Given the description of an element on the screen output the (x, y) to click on. 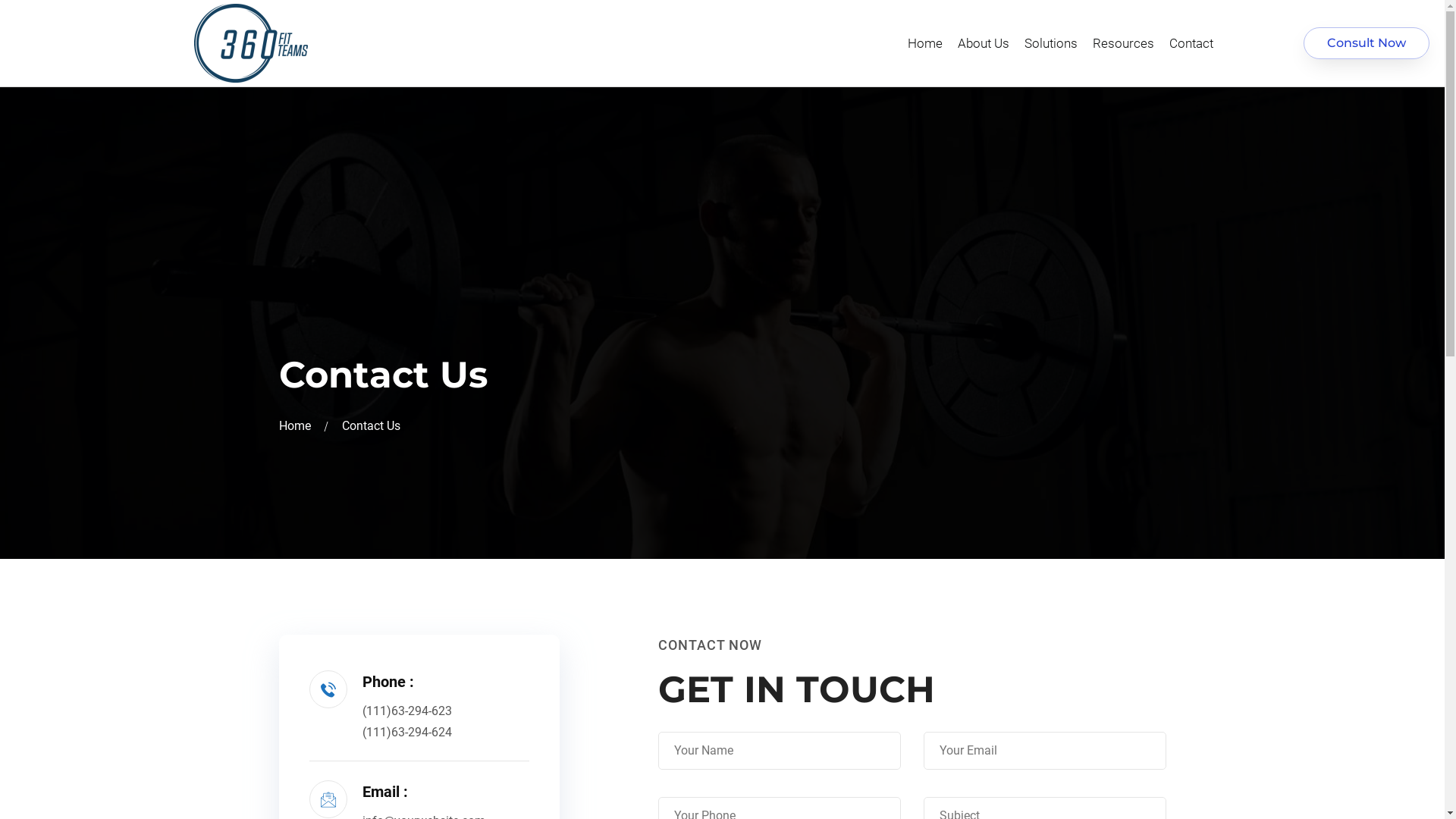
360 LOGO Element type: hover (250, 42)
Solutions Element type: text (1050, 42)
(111)63-294-623 Element type: text (406, 710)
Resources Element type: text (1123, 42)
Contact Element type: text (1190, 42)
Consult Now Element type: text (1366, 43)
(111)63-294-624 Element type: text (406, 732)
Home Element type: text (925, 42)
Home   Element type: text (297, 425)
About Us Element type: text (983, 42)
